Given the description of an element on the screen output the (x, y) to click on. 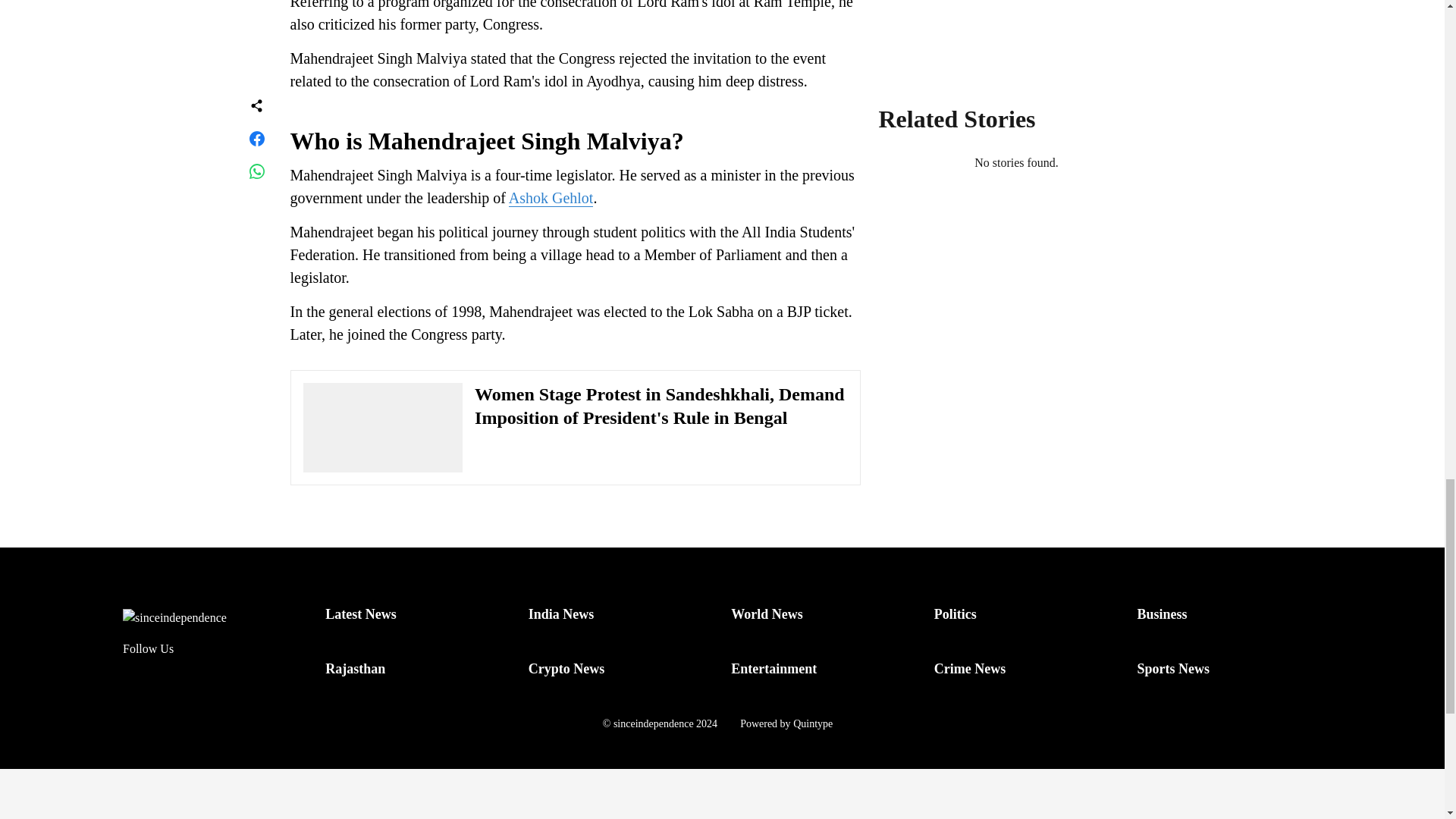
Ashok Gehlot (551, 198)
Politics (955, 613)
Business (1161, 613)
Latest News (360, 613)
India News (561, 613)
World News (766, 613)
